Given the description of an element on the screen output the (x, y) to click on. 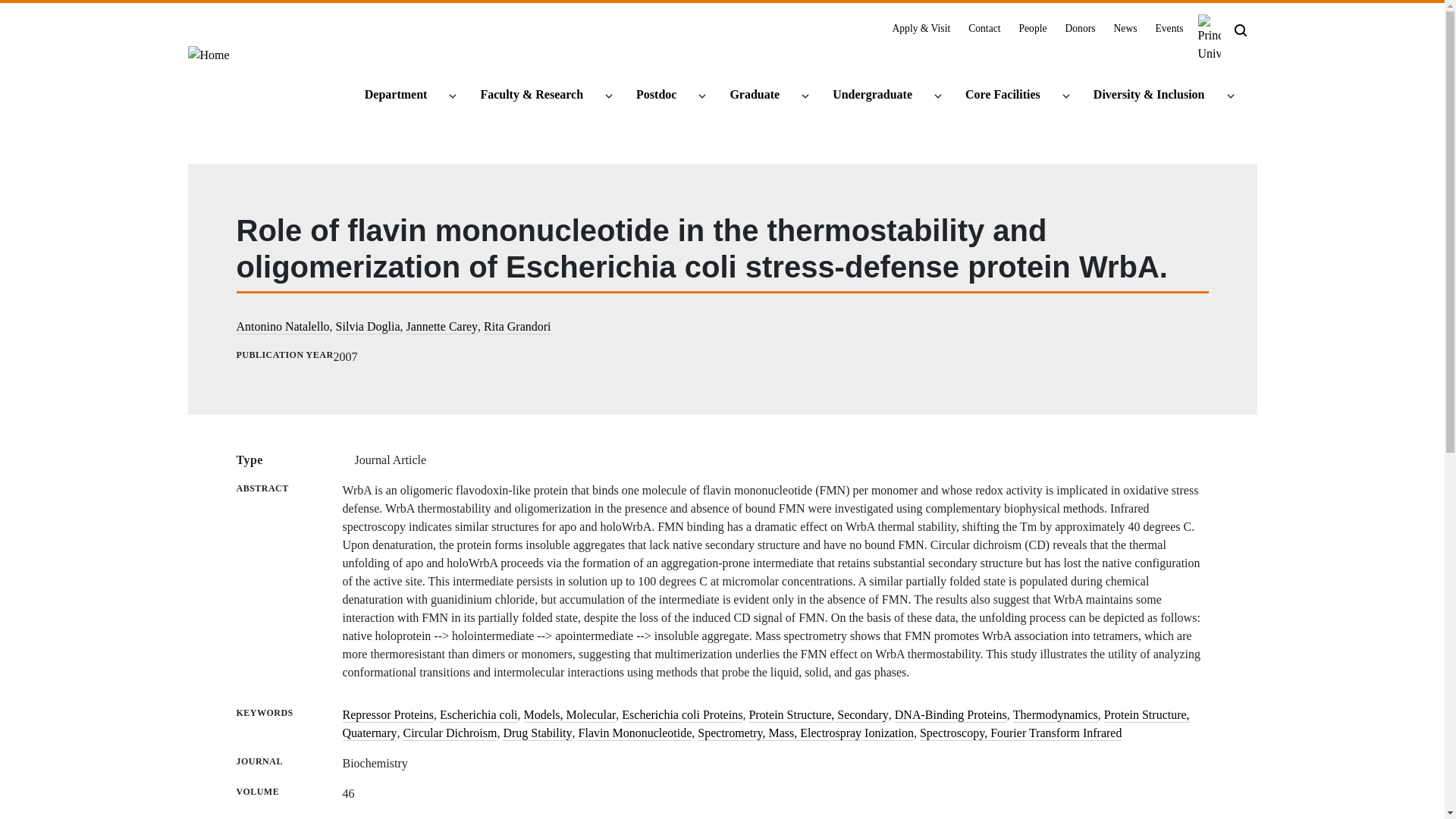
Department (402, 95)
Home (208, 60)
Graduate (761, 95)
Postdoc (662, 95)
